Given the description of an element on the screen output the (x, y) to click on. 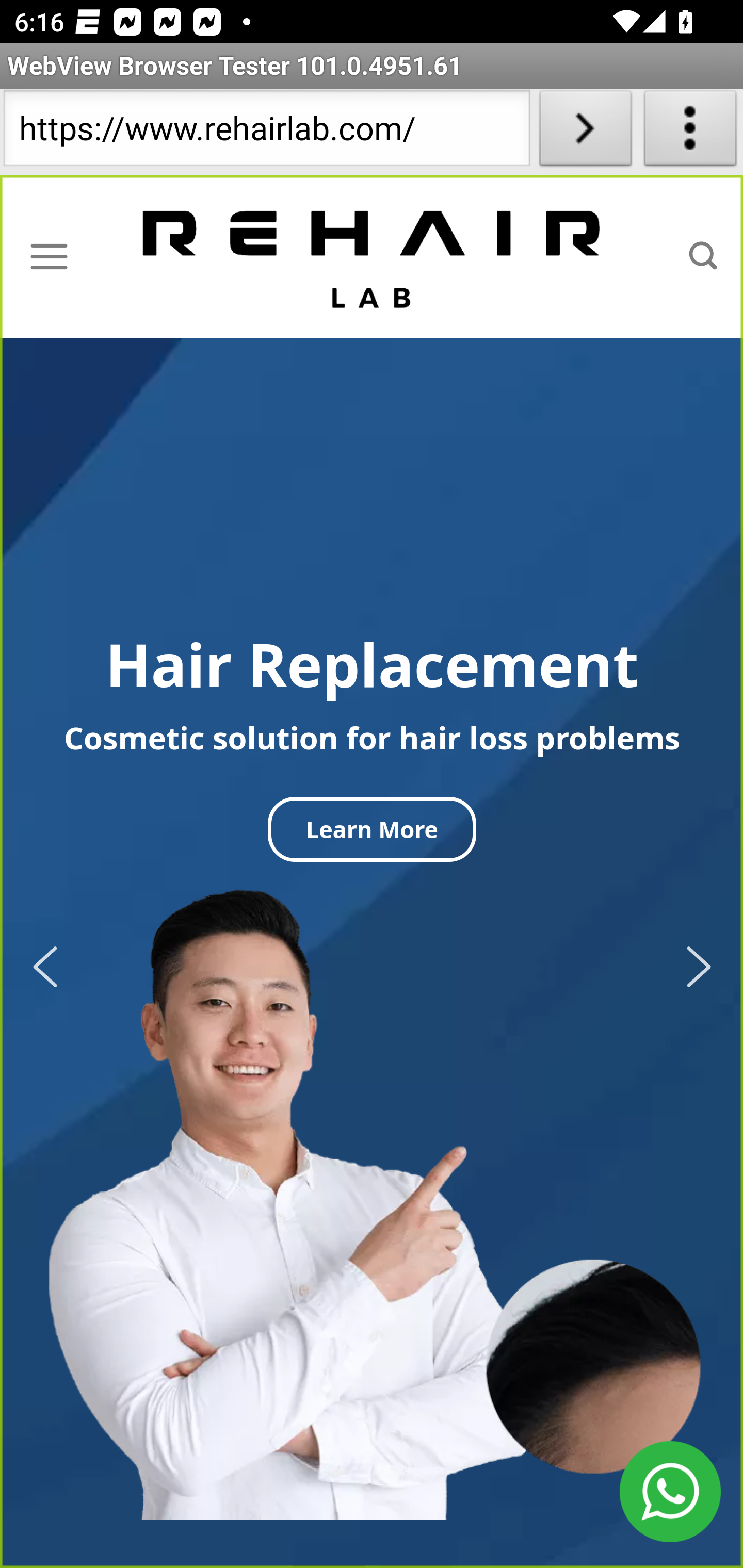
https://www.rehairlab.com/ (266, 132)
Load URL (585, 132)
About WebView (690, 132)
Rehair Lab (372, 256)
Menu  (48, 256)
Search  (703, 256)
Learn More (372, 829)
previous arrow (50, 967)
next arrow (692, 967)
